Given the description of an element on the screen output the (x, y) to click on. 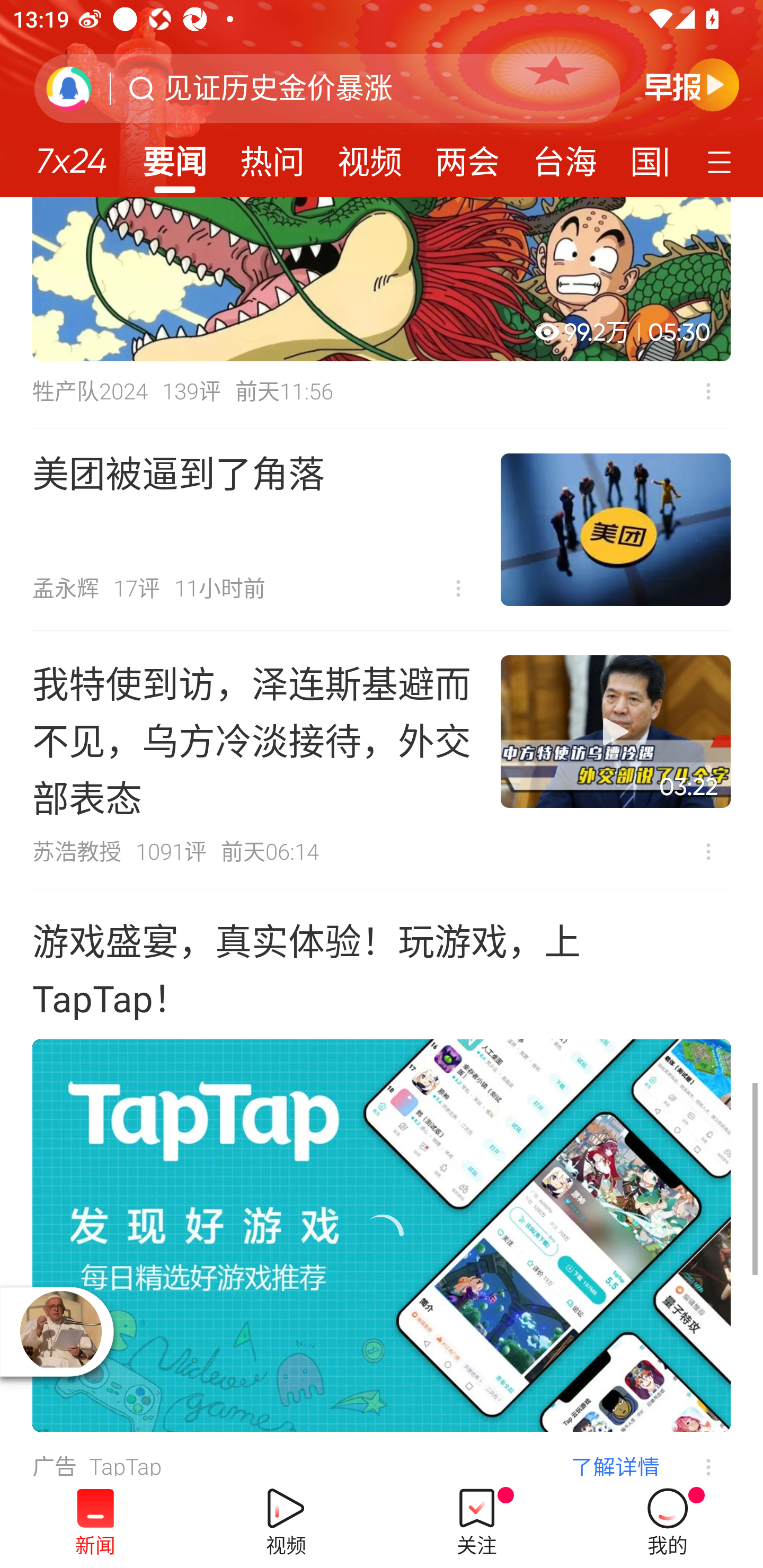
早晚报 (691, 84)
刷新 (68, 88)
见证历史金价暴涨 (278, 88)
7x24 (70, 154)
要闻 (174, 155)
热问 (272, 155)
视频 (369, 155)
两会 (466, 155)
台海 (564, 155)
 定制频道 (721, 160)
 99.2万 05:30 牲产队2024 139评 前天11:56  不感兴趣 (381, 312)
 不感兴趣 (707, 390)
美团被逼到了角落 孟永辉 17评 11小时前  不感兴趣 (381, 529)
 不感兴趣 (458, 588)
 不感兴趣 (707, 851)
01:42 (381, 1235)
播放器 (60, 1331)
 不感兴趣 (694, 1454)
了解详情 (614, 1464)
广告 (54, 1465)
TapTap (125, 1465)
